Given the description of an element on the screen output the (x, y) to click on. 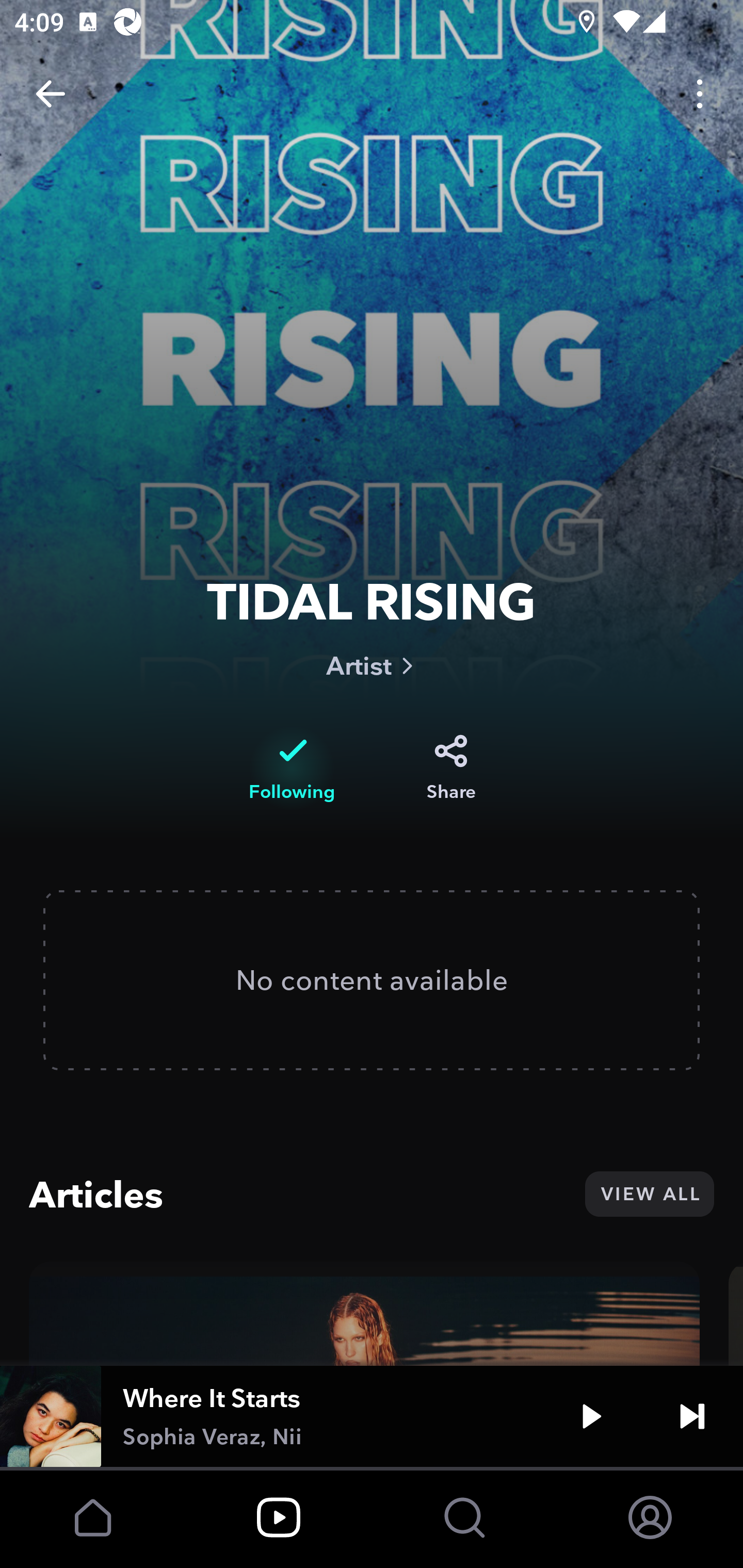
Options (699, 93)
Artist (371, 665)
Following (291, 767)
Share (450, 767)
VIEW ALL (649, 1193)
Where It Starts Sophia Veraz, Nii Play (371, 1416)
Play (590, 1416)
